Given the description of an element on the screen output the (x, y) to click on. 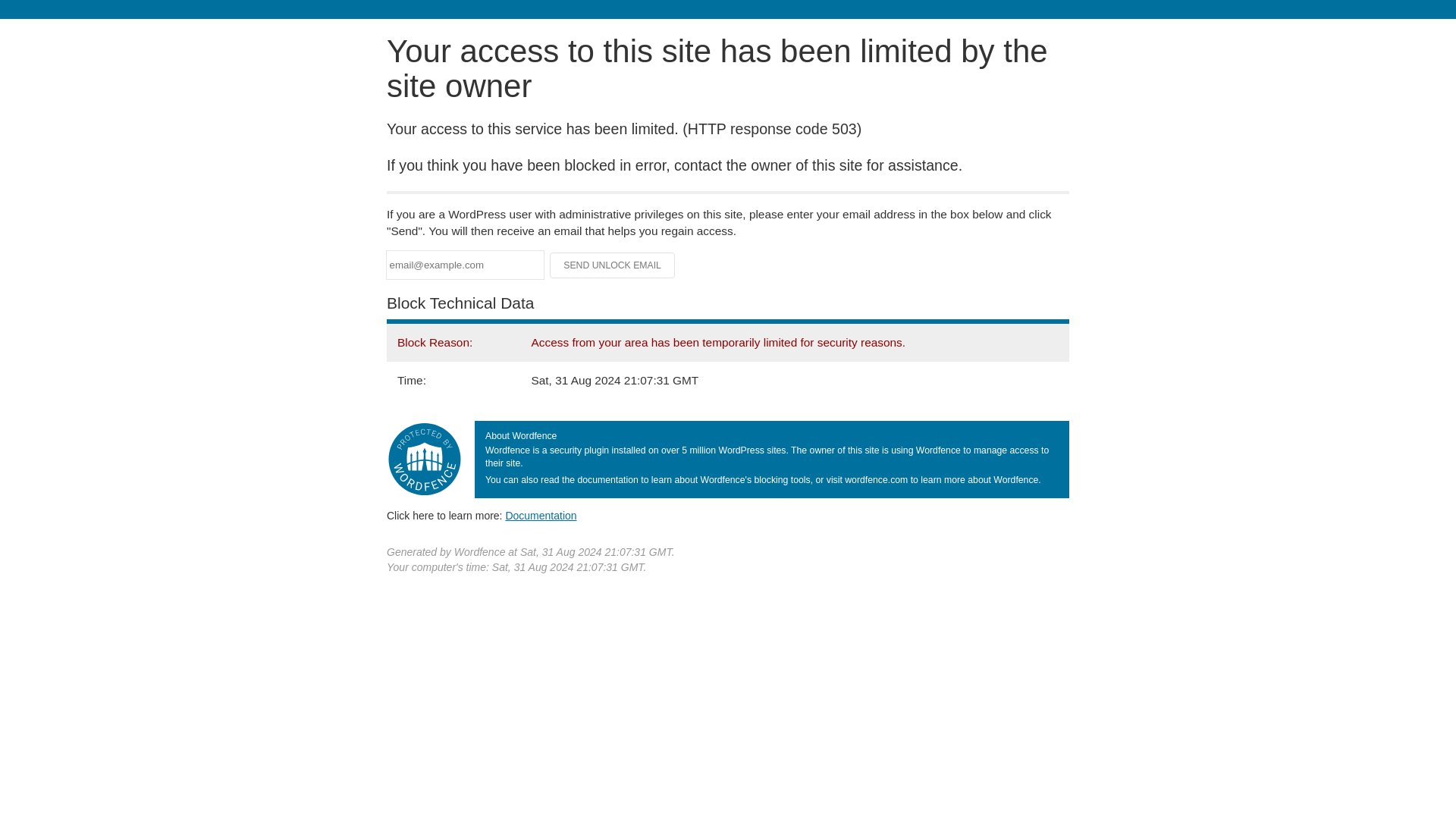
Send Unlock Email (612, 265)
Send Unlock Email (612, 265)
Documentation (540, 515)
